Given the description of an element on the screen output the (x, y) to click on. 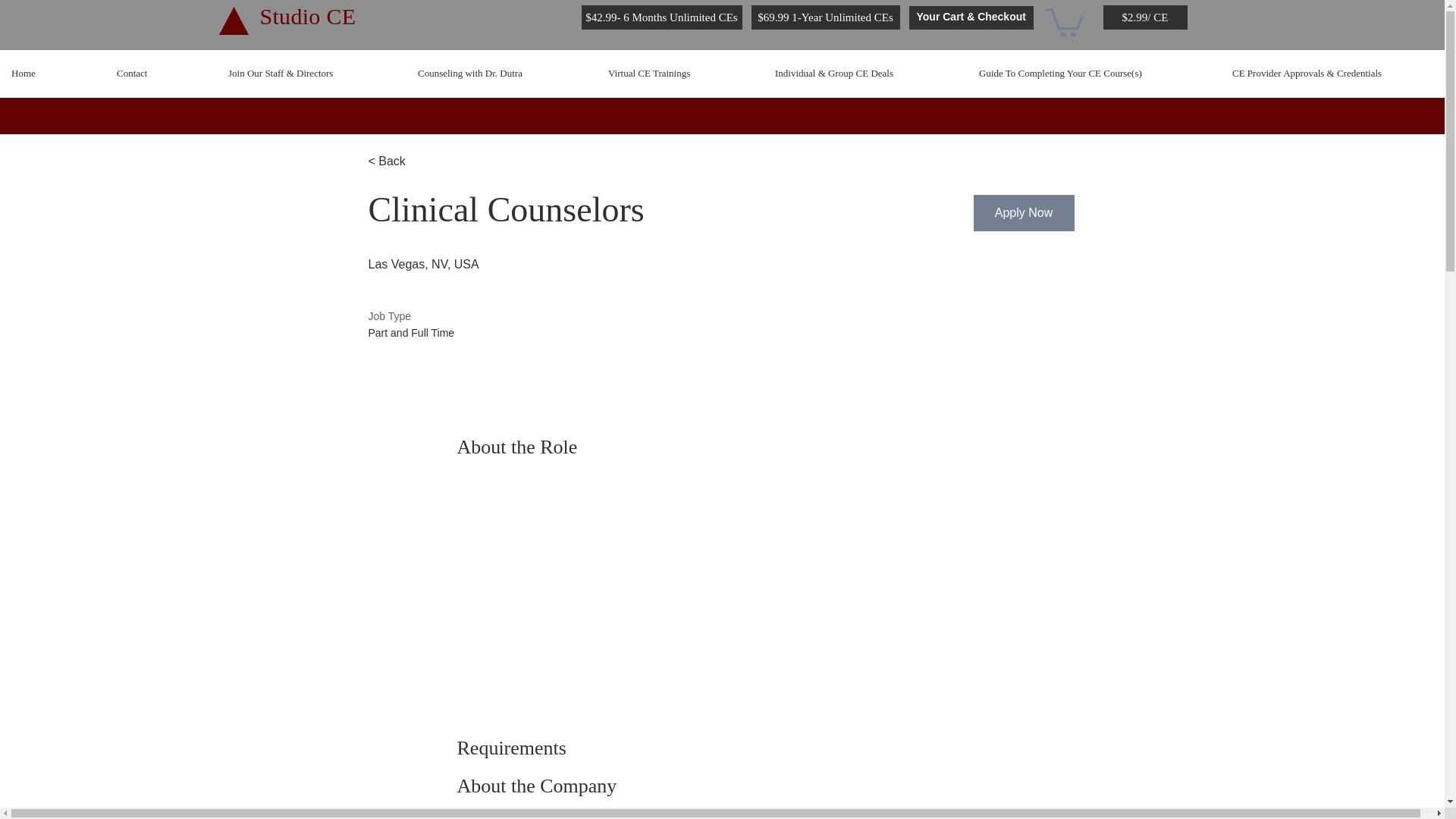
Home (52, 73)
Contact (160, 73)
Virtual CE Trainings (679, 73)
Counseling with Dr. Dutra (501, 73)
